Given the description of an element on the screen output the (x, y) to click on. 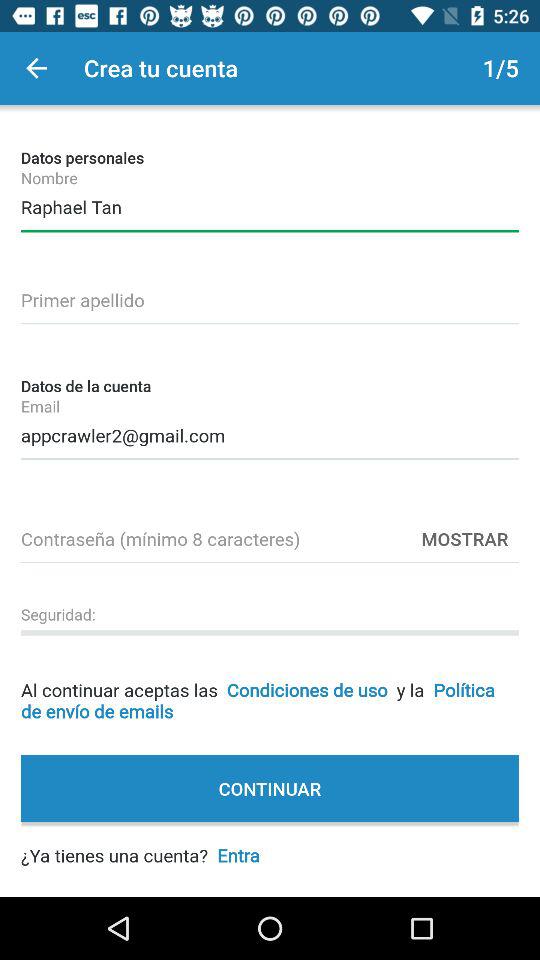
select the item below datos de la (270, 432)
